Given the description of an element on the screen output the (x, y) to click on. 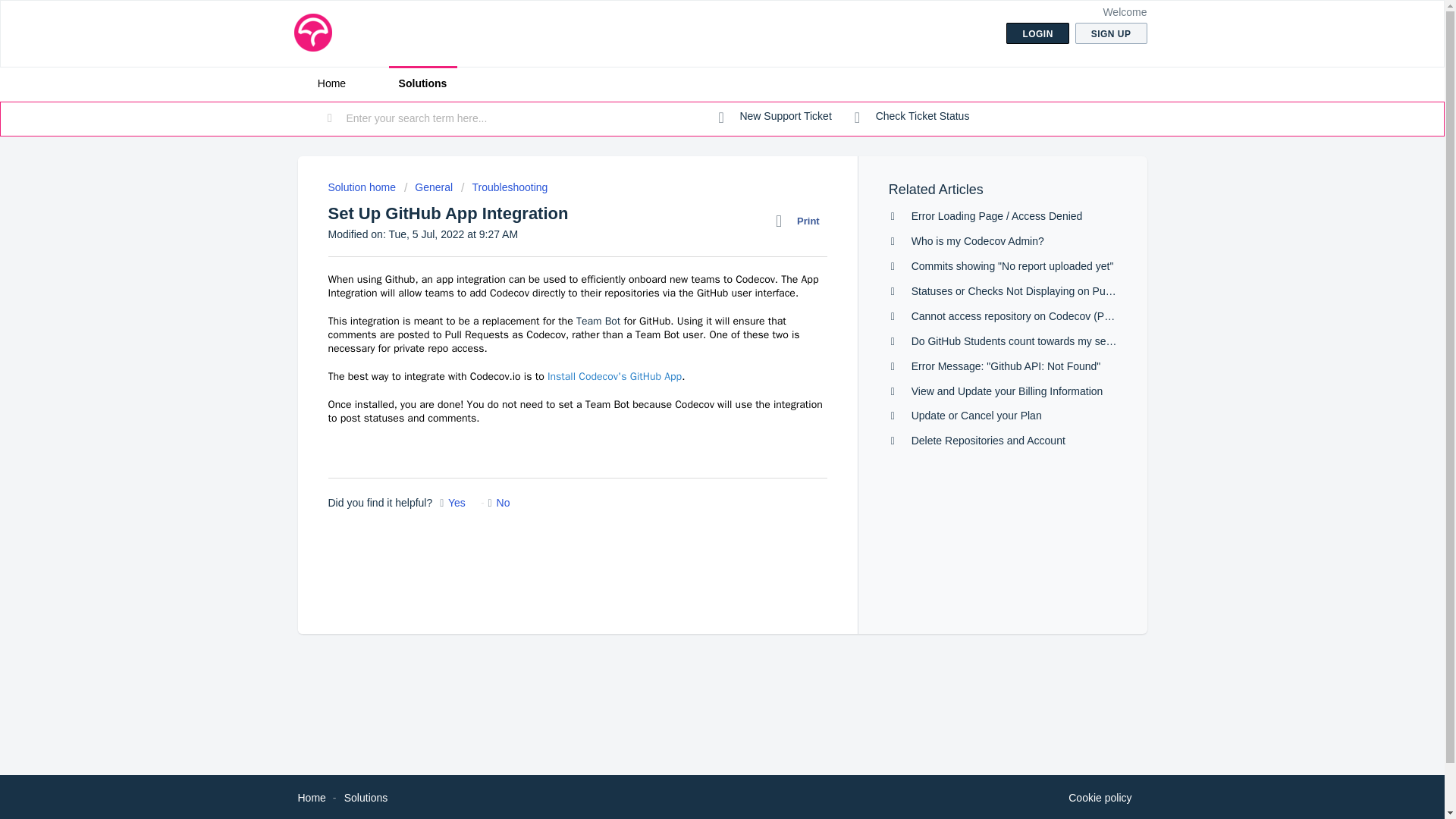
Team Bot (598, 320)
General (428, 186)
Troubleshooting (504, 186)
Home (310, 797)
Install Codecov's GitHub App (614, 376)
Why we love Cookies (1099, 798)
Print this Article (801, 220)
Check Ticket Status (911, 116)
LOGIN (1037, 33)
New support ticket (775, 116)
